Given the description of an element on the screen output the (x, y) to click on. 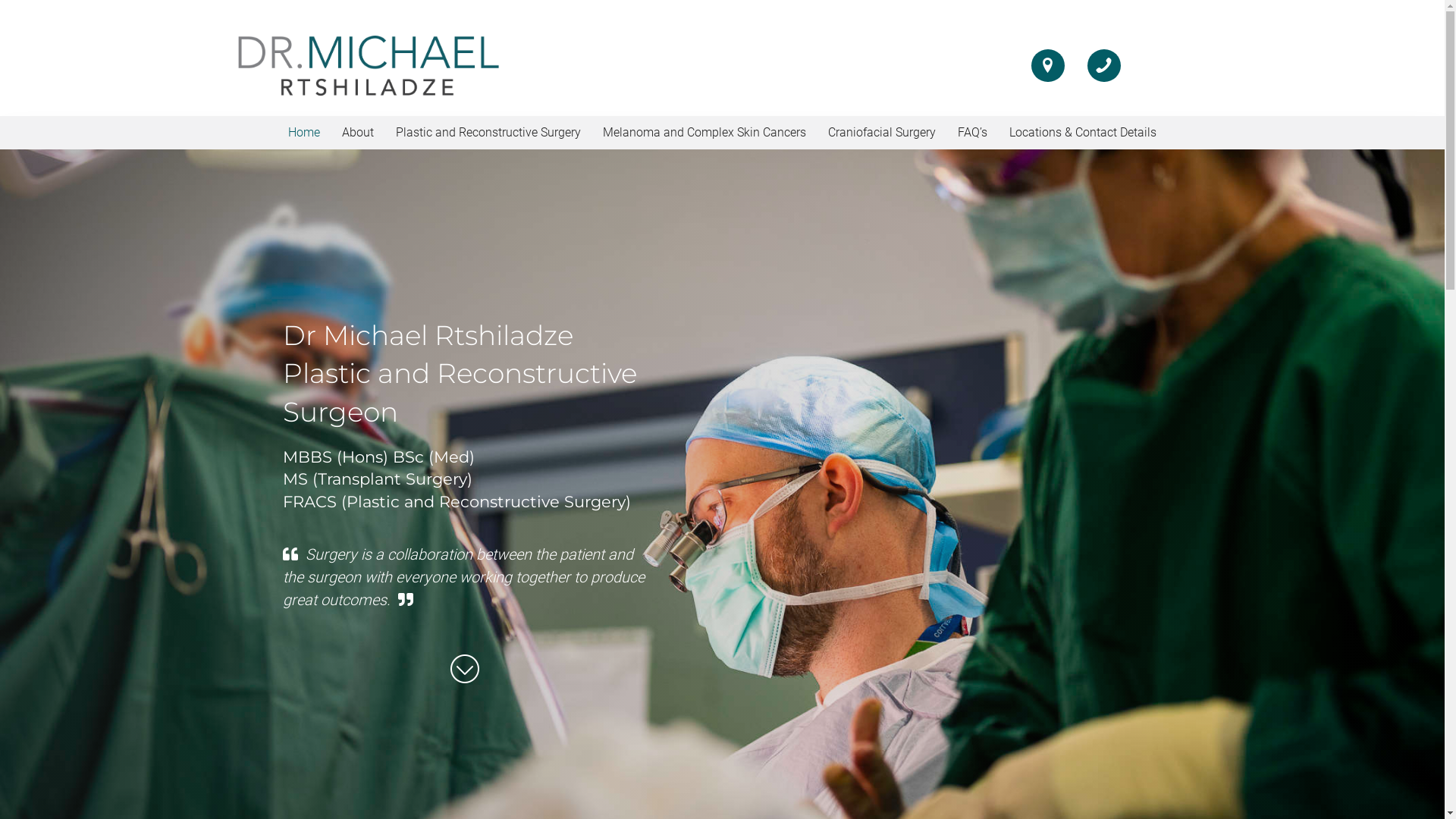
Plastic and Reconstructive Surgery Element type: text (488, 132)
About Element type: text (357, 132)
Craniofacial Surgery Element type: text (881, 132)
Locations & Contact Details Element type: text (1082, 132)
Melanoma and Complex Skin Cancers Element type: text (704, 132)
Home Element type: text (303, 132)
DrMichaelRtshiladze_Logo Element type: hover (368, 65)
